Given the description of an element on the screen output the (x, y) to click on. 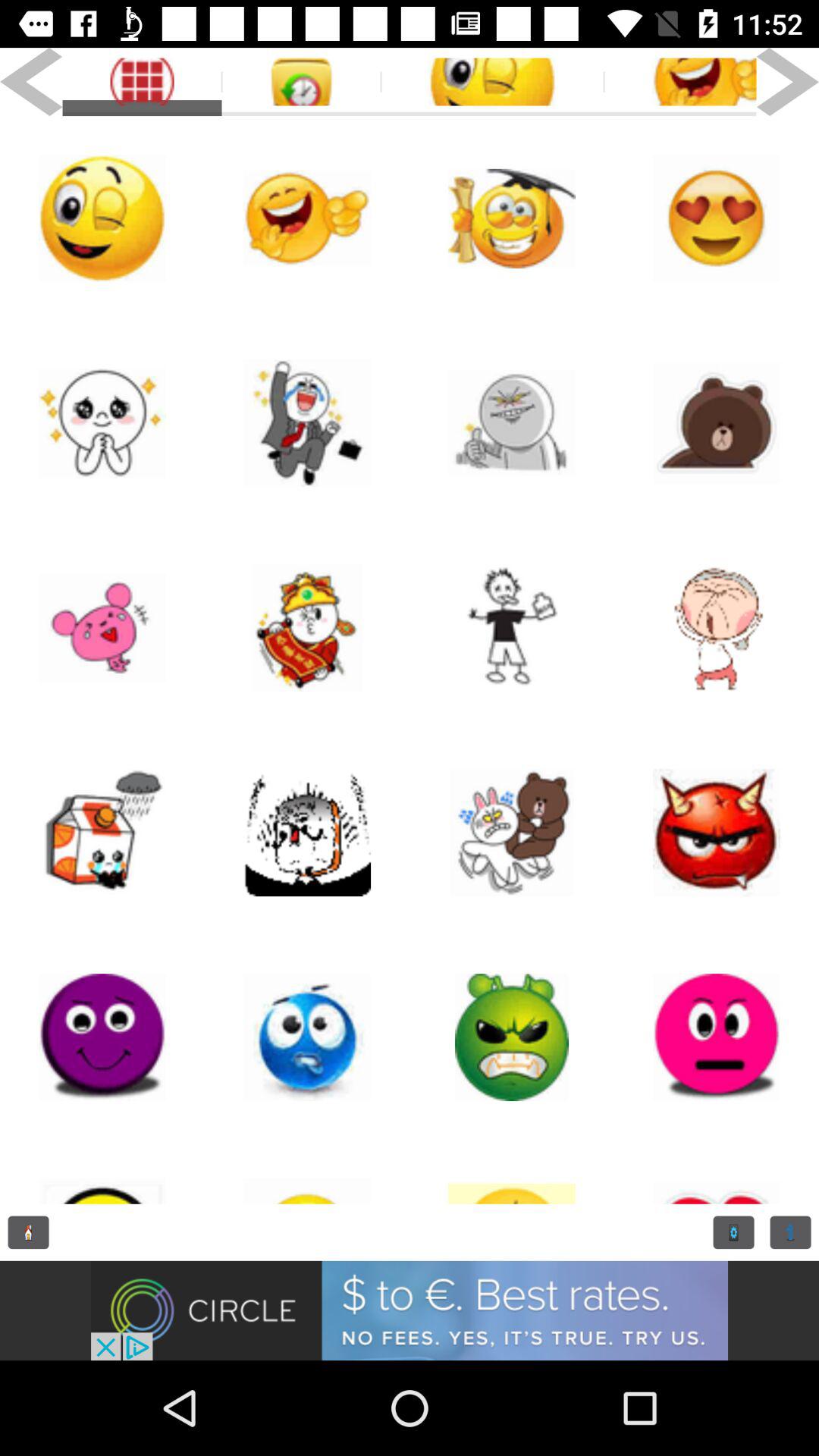
select this icon (306, 1171)
